Given the description of an element on the screen output the (x, y) to click on. 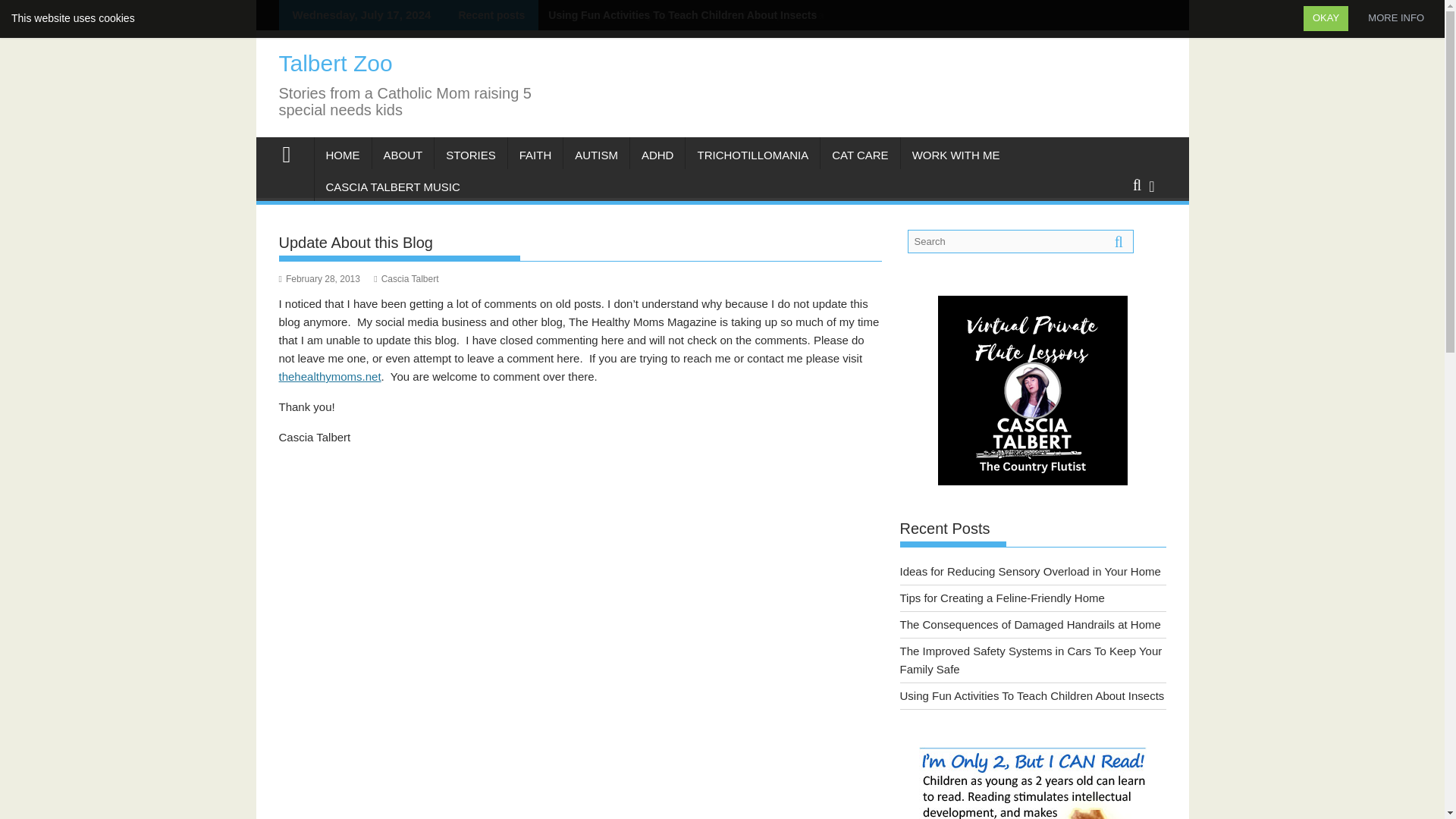
STORIES (469, 155)
Using Fun Activities To Teach Children About Insects (677, 15)
TRICHOTILLOMANIA (752, 155)
The Improved Safety Systems in Cars To Keep Your Family Safe (704, 15)
The Improved Safety Systems in Cars To Keep Your Family Safe (704, 15)
CAT CARE (860, 155)
February 28, 2013 (319, 278)
ABOUT (402, 155)
ADHD (657, 155)
HOME (342, 155)
FAITH (535, 155)
Using Fun Activities To Teach Children About Insects (677, 15)
WORK WITH ME (956, 155)
Cascia Talbert (406, 278)
